Given the description of an element on the screen output the (x, y) to click on. 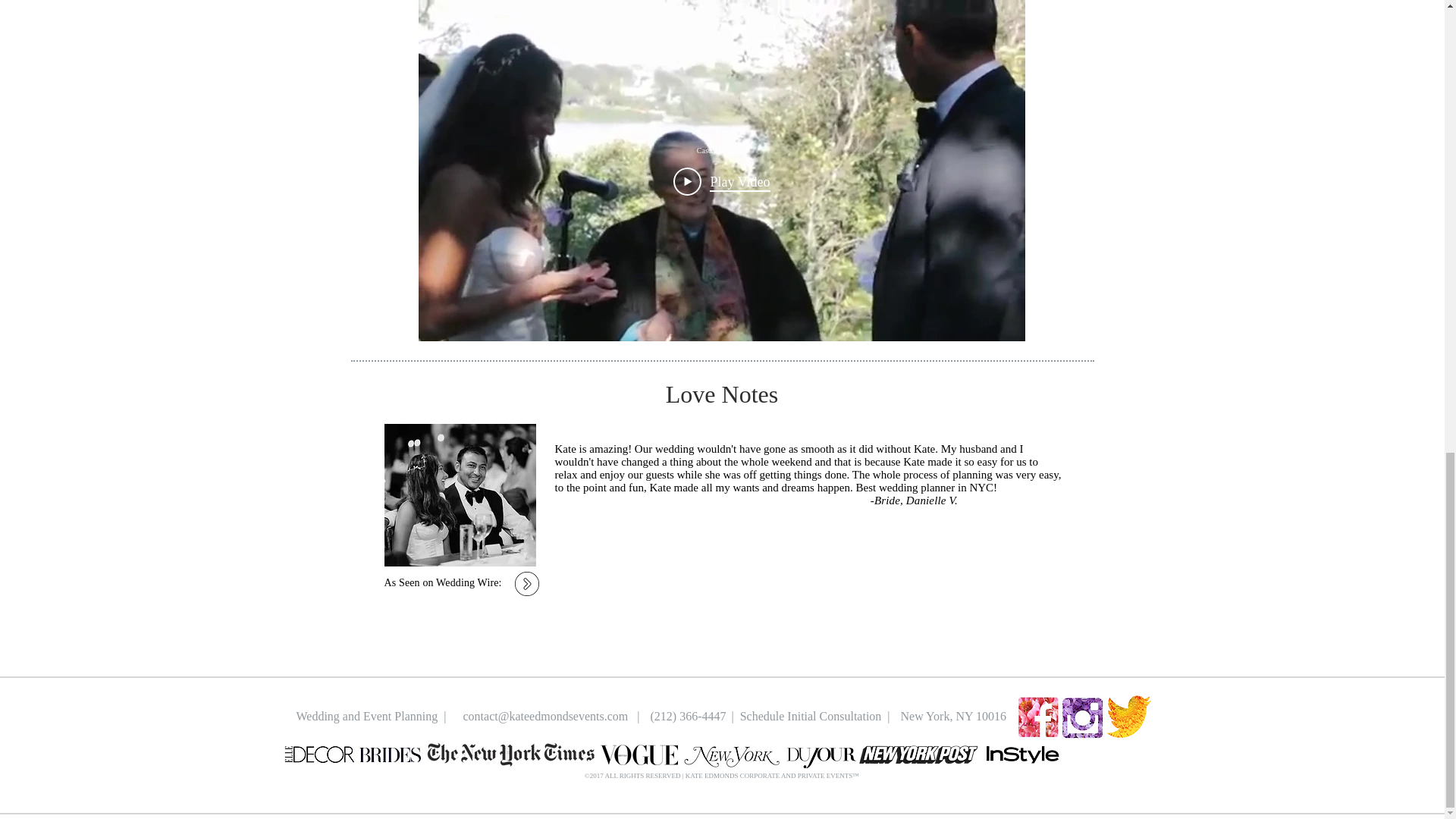
Casual Elegance (721, 150)
new-york-weddings-logo.png (733, 754)
As Seen on Wedding Wire: (442, 582)
